Given the description of an element on the screen output the (x, y) to click on. 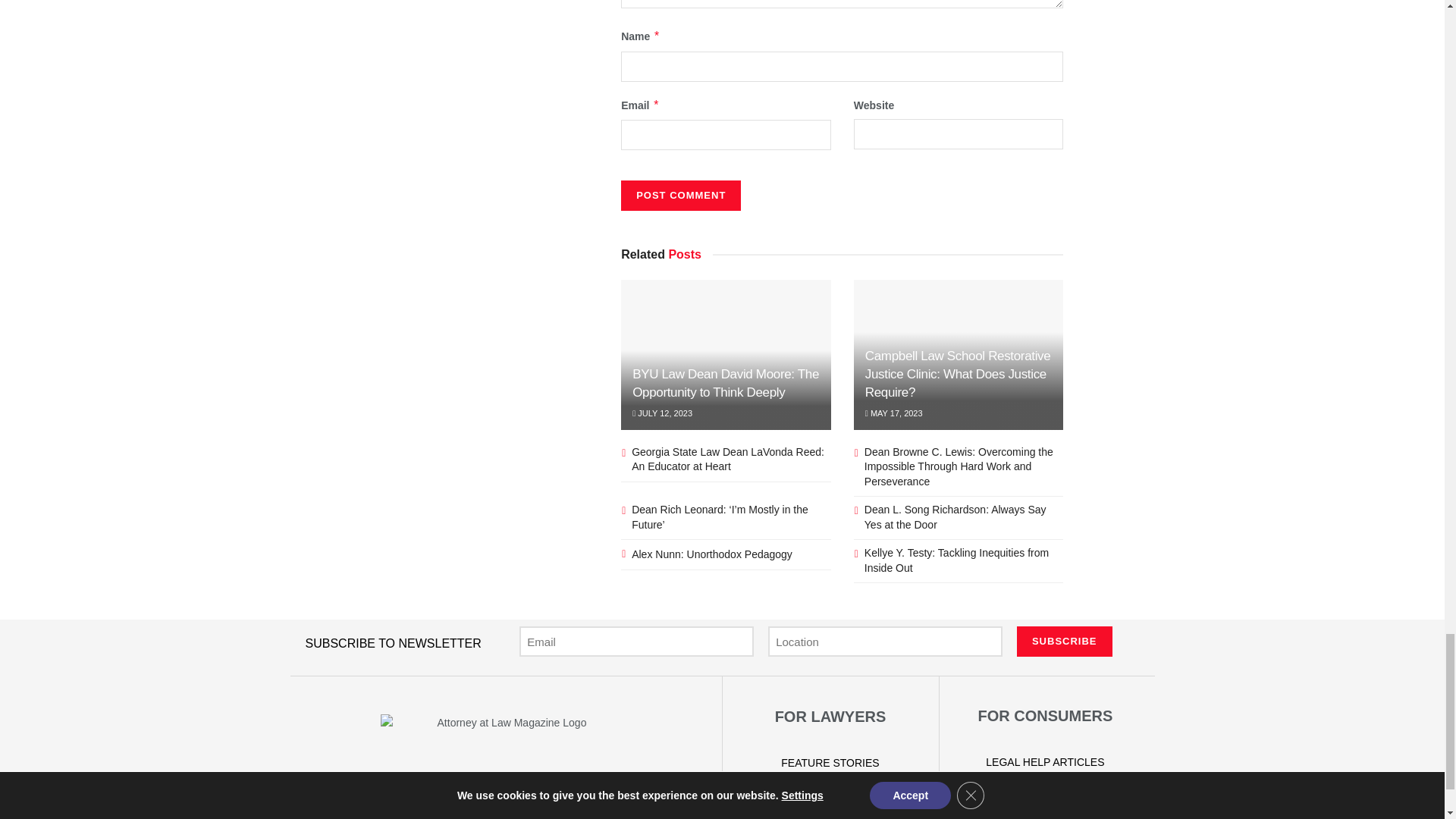
Post Comment (681, 195)
Subscribe (1064, 641)
